Given the description of an element on the screen output the (x, y) to click on. 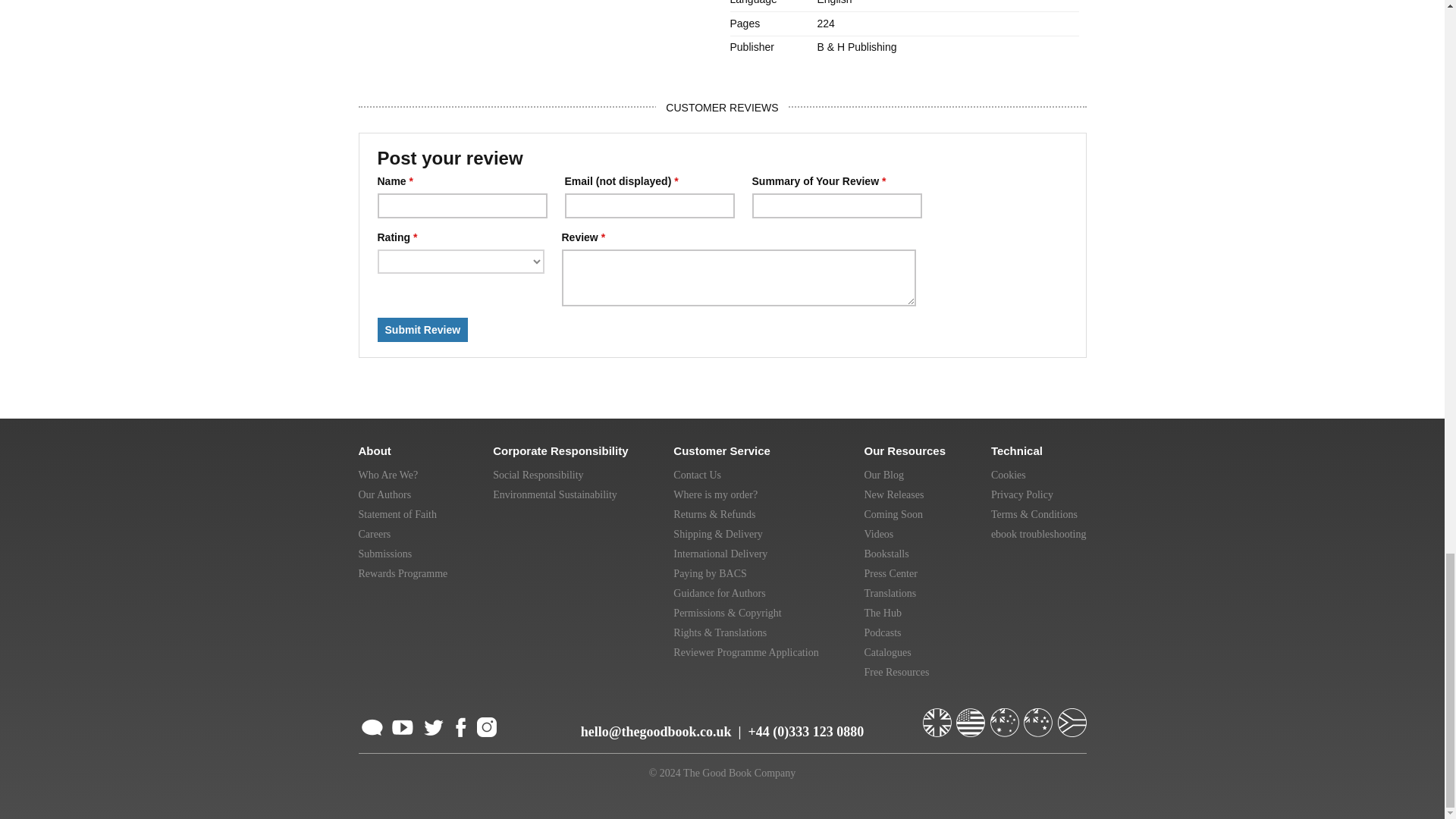
Subscribe to feed (371, 725)
Go to UK Website (937, 715)
Go to US Website (972, 715)
Go to Australia Website (1006, 715)
Go to New Zealand Website (1039, 715)
Submit Review (422, 329)
Go to South Africa Website (1071, 715)
